Given the description of an element on the screen output the (x, y) to click on. 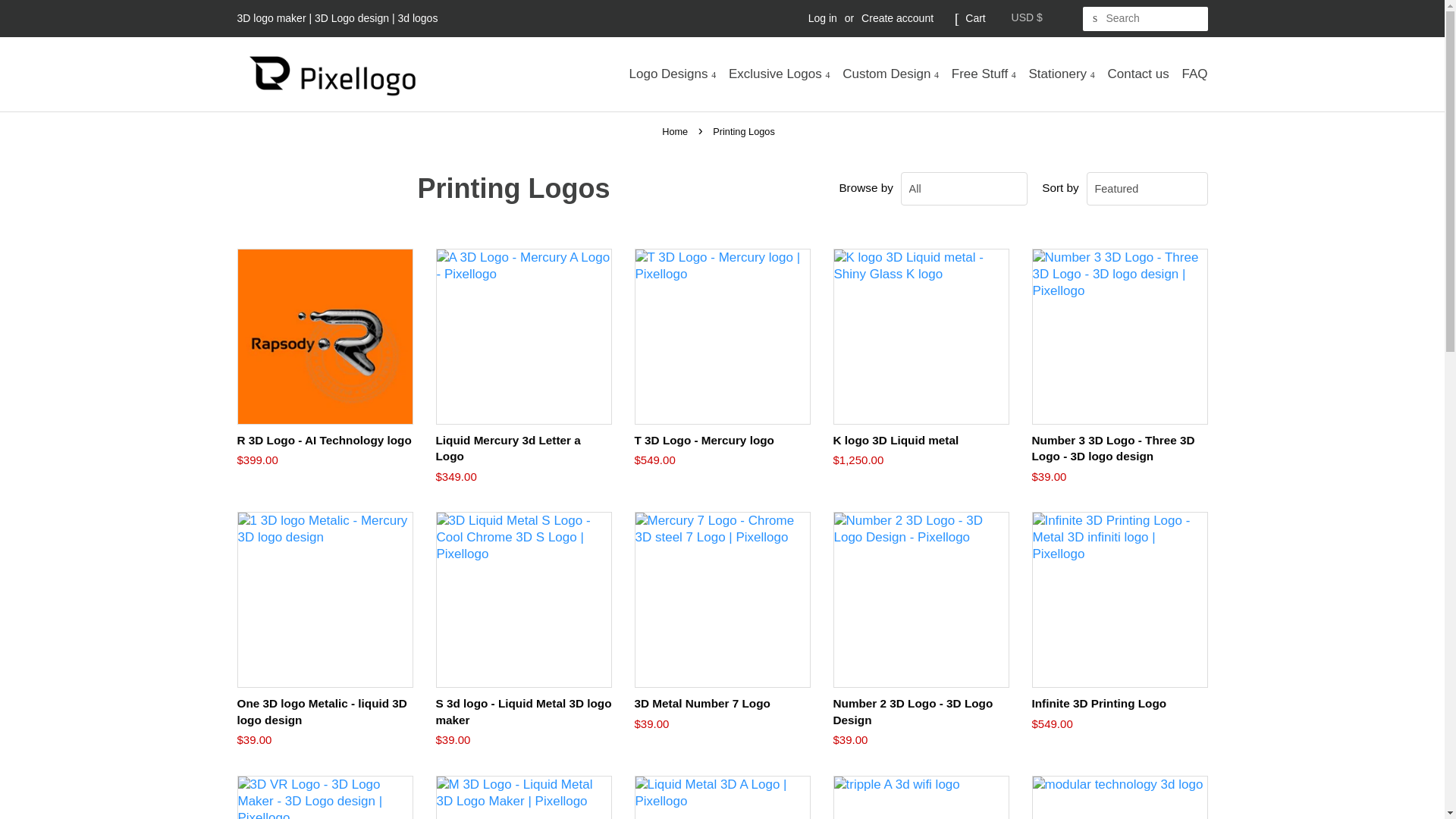
Create account (897, 18)
Log in (822, 18)
Cart (975, 18)
Back to the frontpage (676, 131)
Search (1095, 18)
